Given the description of an element on the screen output the (x, y) to click on. 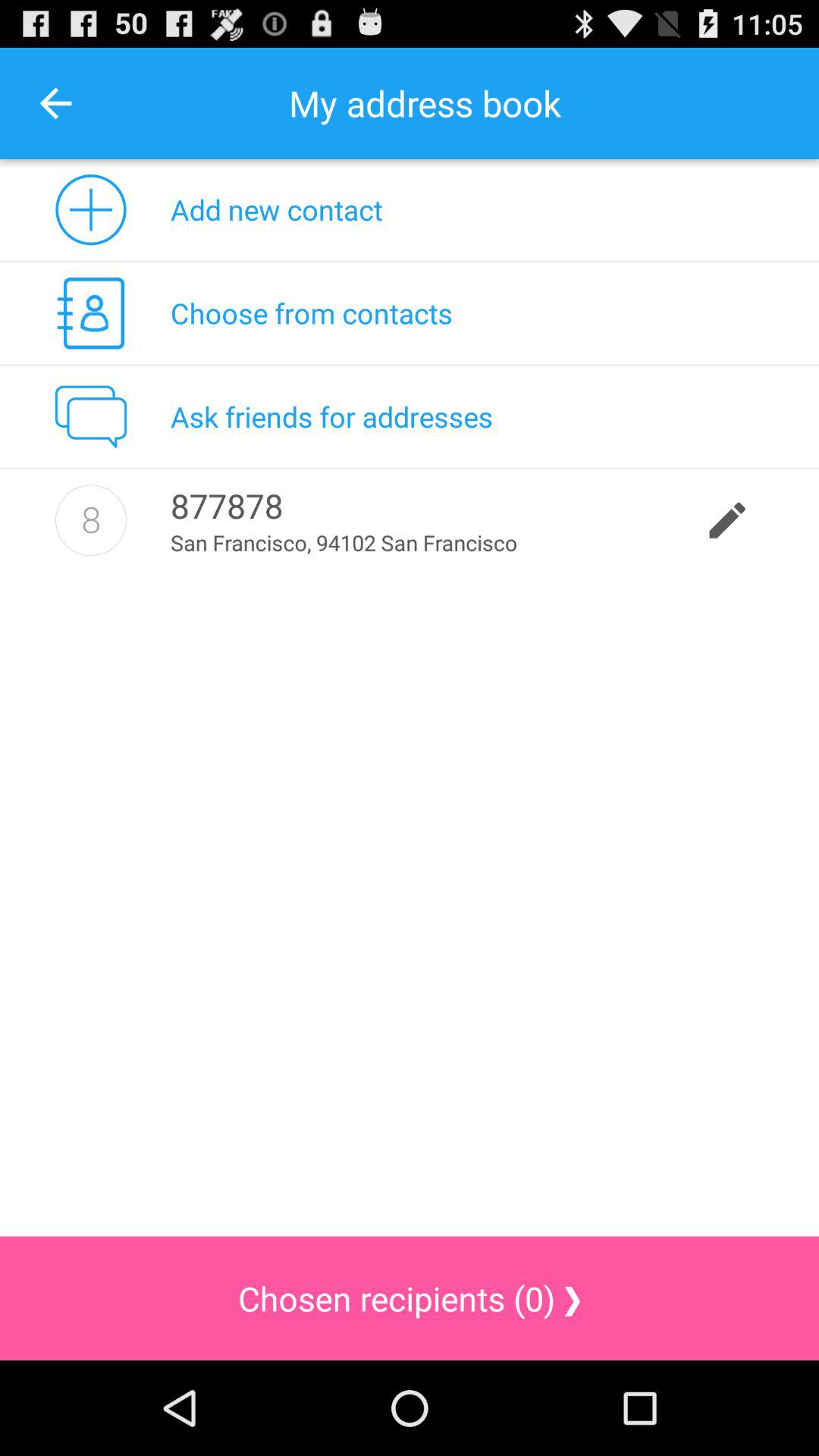
tap icon next to my address book (55, 103)
